Given the description of an element on the screen output the (x, y) to click on. 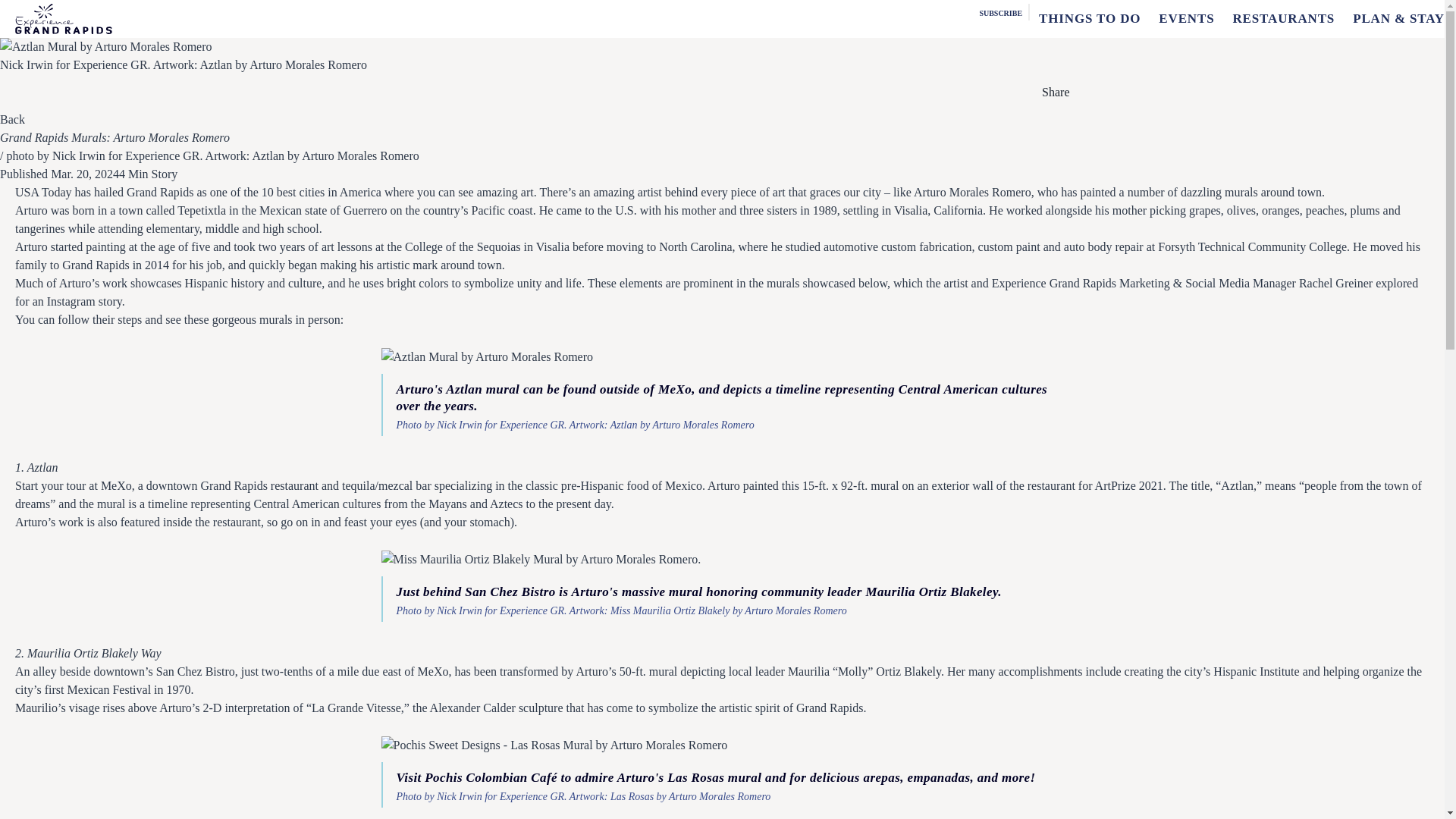
EVENTS (1186, 18)
Share (1052, 92)
THINGS TO DO (1089, 18)
SUBSCRIBE (1000, 11)
RESTAURANTS (1283, 18)
